Given the description of an element on the screen output the (x, y) to click on. 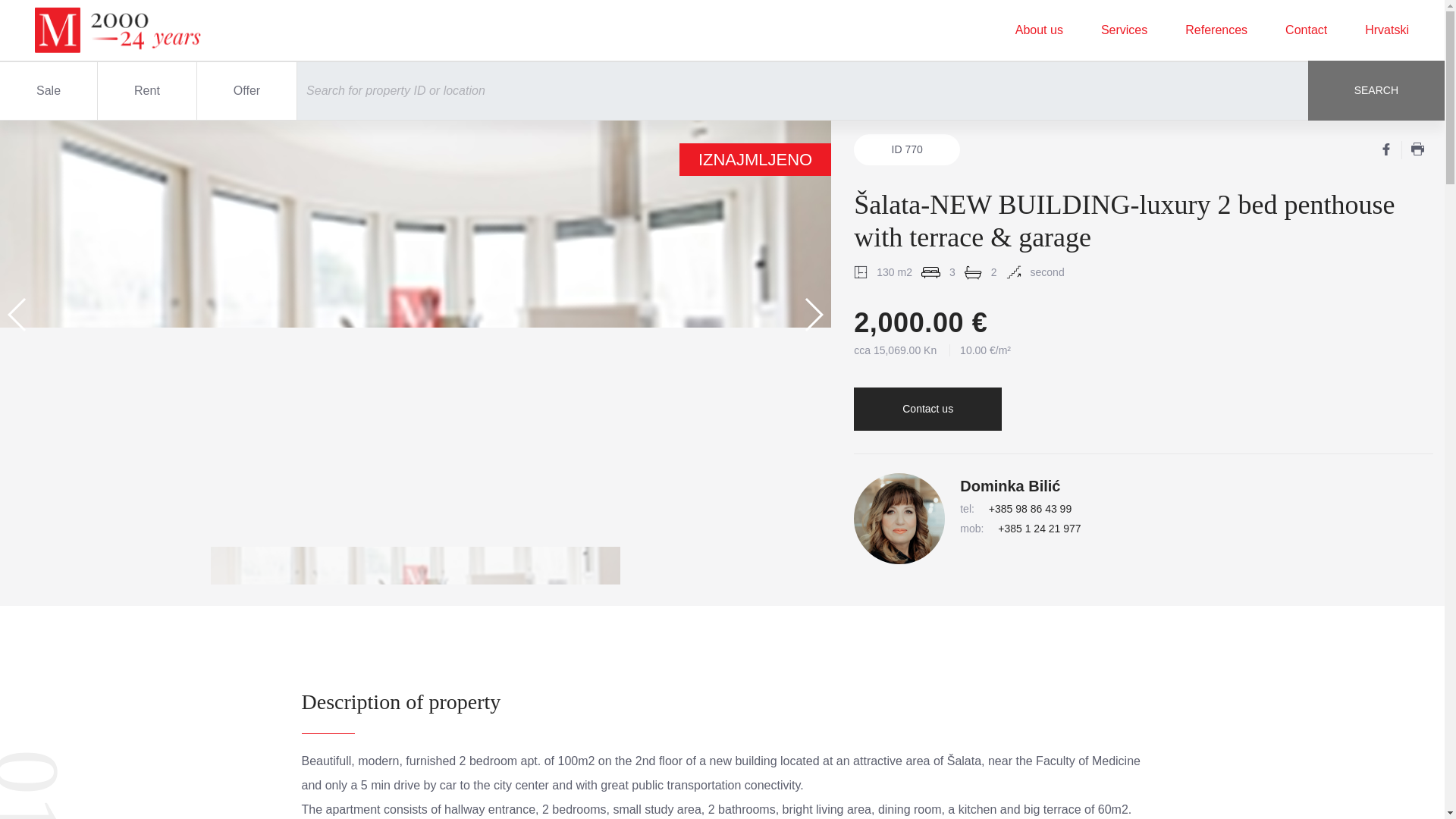
About us (1038, 29)
Sale (48, 90)
References (1216, 29)
Rent (146, 90)
Services (1123, 29)
Hrvatski (1386, 29)
Contact (1305, 29)
Contact us (927, 408)
Offer (246, 90)
